Given the description of an element on the screen output the (x, y) to click on. 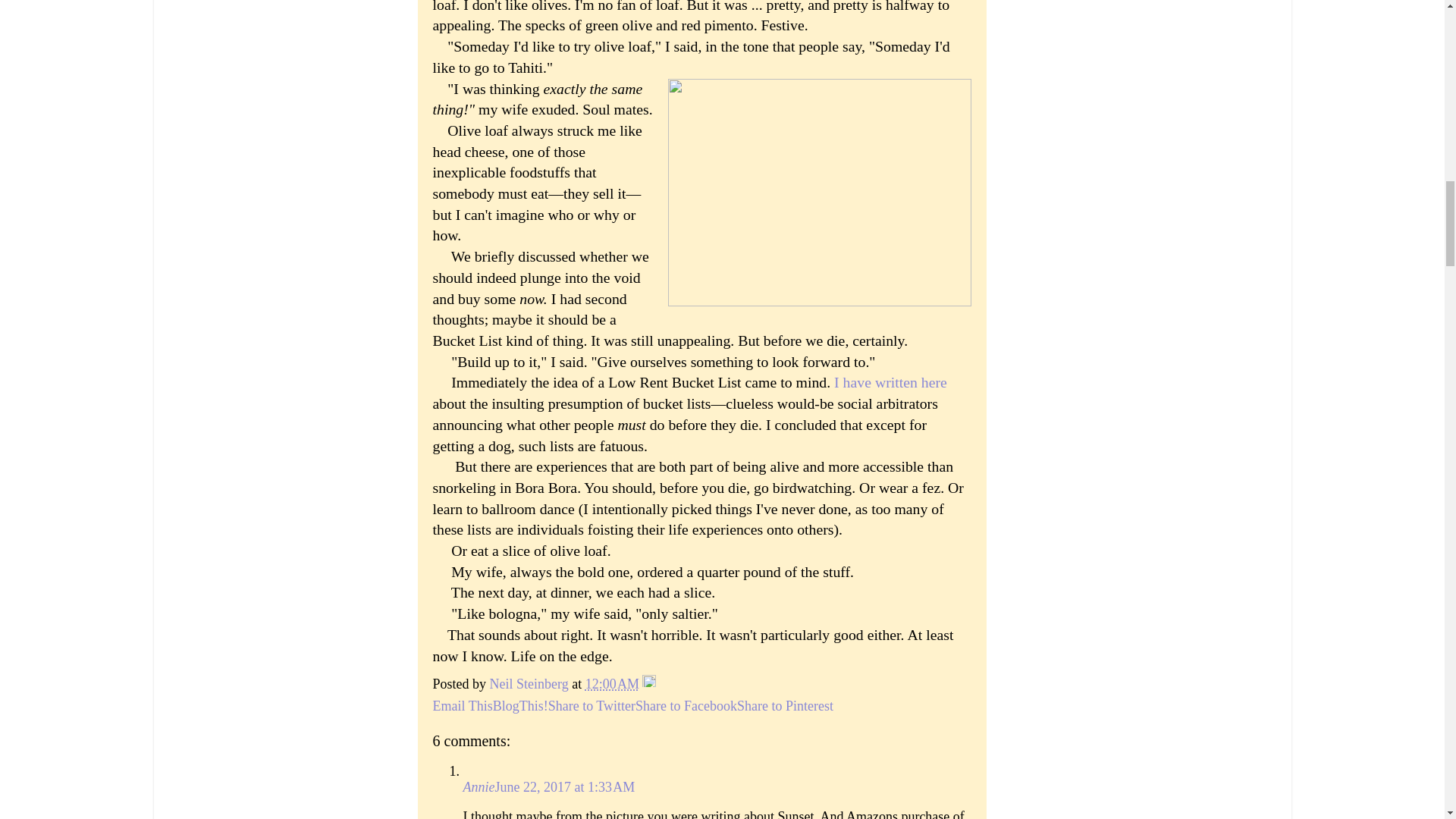
BlogThis! (520, 705)
Share to Twitter (591, 705)
Share to Facebook (685, 705)
Email This (462, 705)
author profile (530, 683)
Annie (479, 786)
permanent link (612, 683)
Share to Pinterest (784, 705)
BlogThis! (520, 705)
Share to Twitter (591, 705)
Share to Facebook (685, 705)
Share to Pinterest (784, 705)
Email This (462, 705)
